Given the description of an element on the screen output the (x, y) to click on. 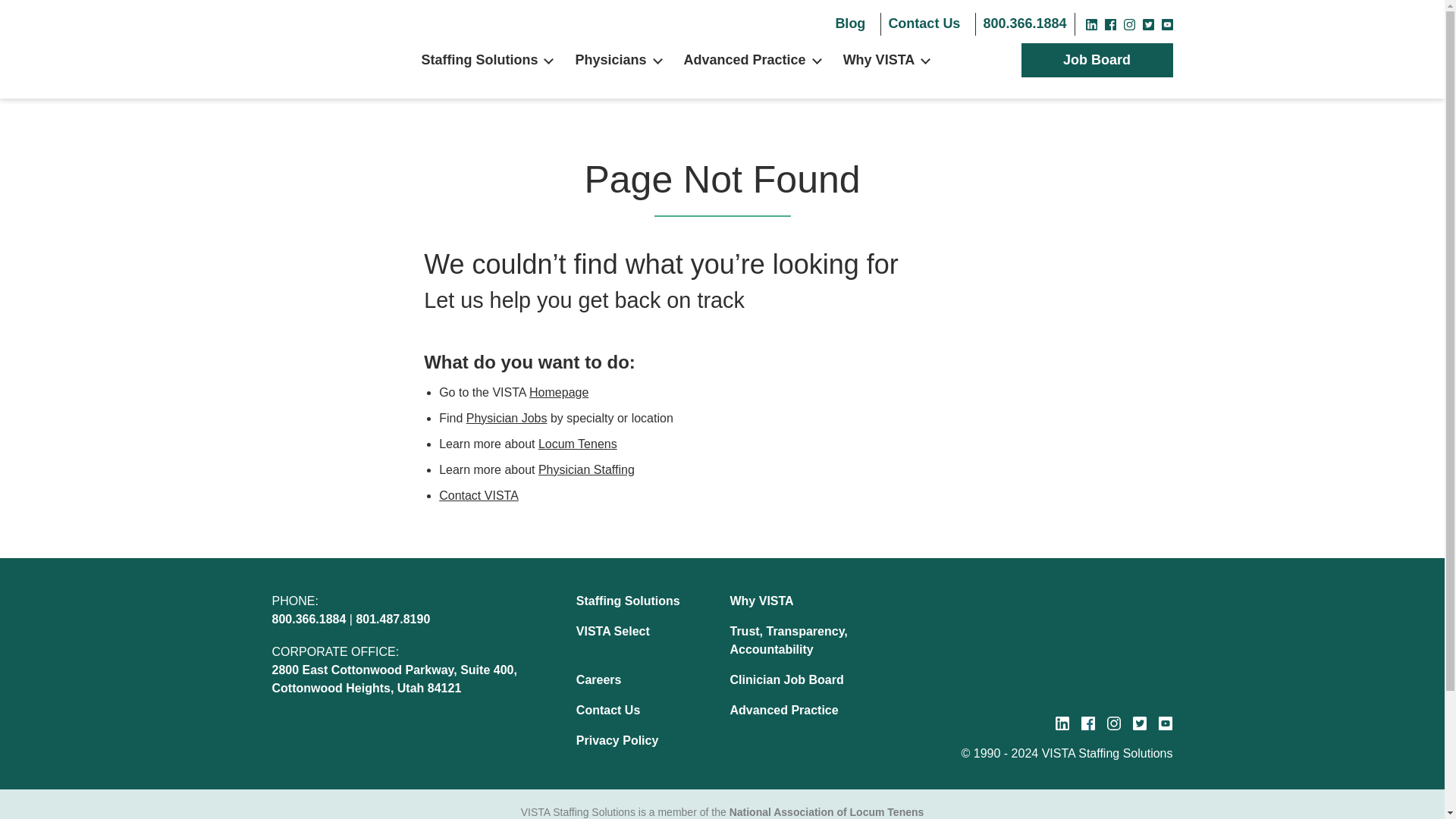
Blog (849, 24)
Job Board (1096, 60)
youtube (1165, 723)
instagram (1113, 723)
twitter (1139, 723)
Advanced Practice (745, 60)
twitter (1147, 24)
instagram (1129, 24)
Physicians (610, 60)
Physician Jobs (506, 418)
